Given the description of an element on the screen output the (x, y) to click on. 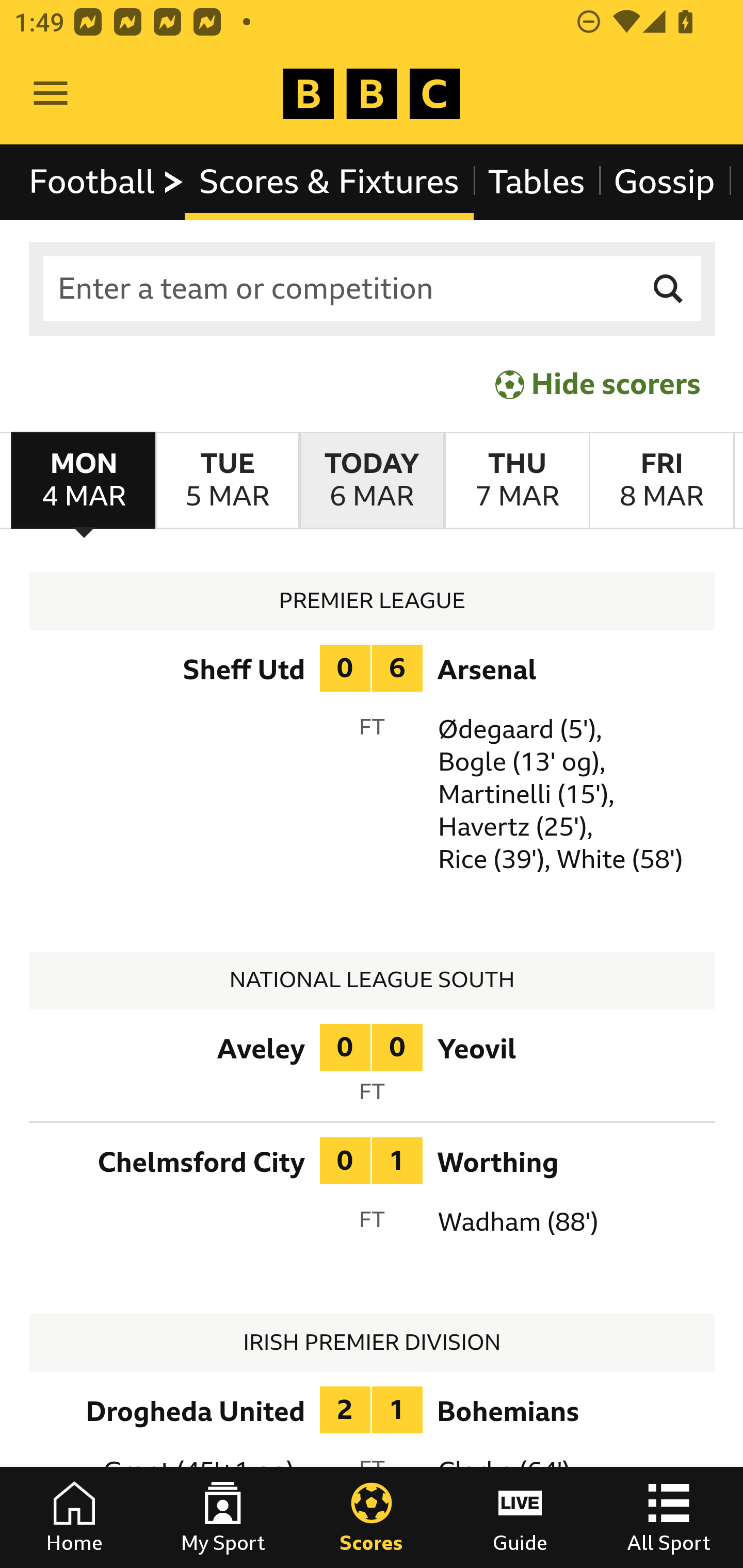
Open Menu (50, 93)
Football  (106, 181)
Scores & Fixtures (329, 181)
Tables (536, 181)
Gossip (664, 181)
Search (669, 289)
Hide scorers (598, 383)
TuesdayMarch 5th Tuesday March 5th (227, 480)
TodayMarch 6th Today March 6th (371, 480)
ThursdayMarch 7th Thursday March 7th (516, 480)
FridayMarch 8th Friday March 8th (661, 480)
Home (74, 1517)
My Sport (222, 1517)
Guide (519, 1517)
All Sport (668, 1517)
